Given the description of an element on the screen output the (x, y) to click on. 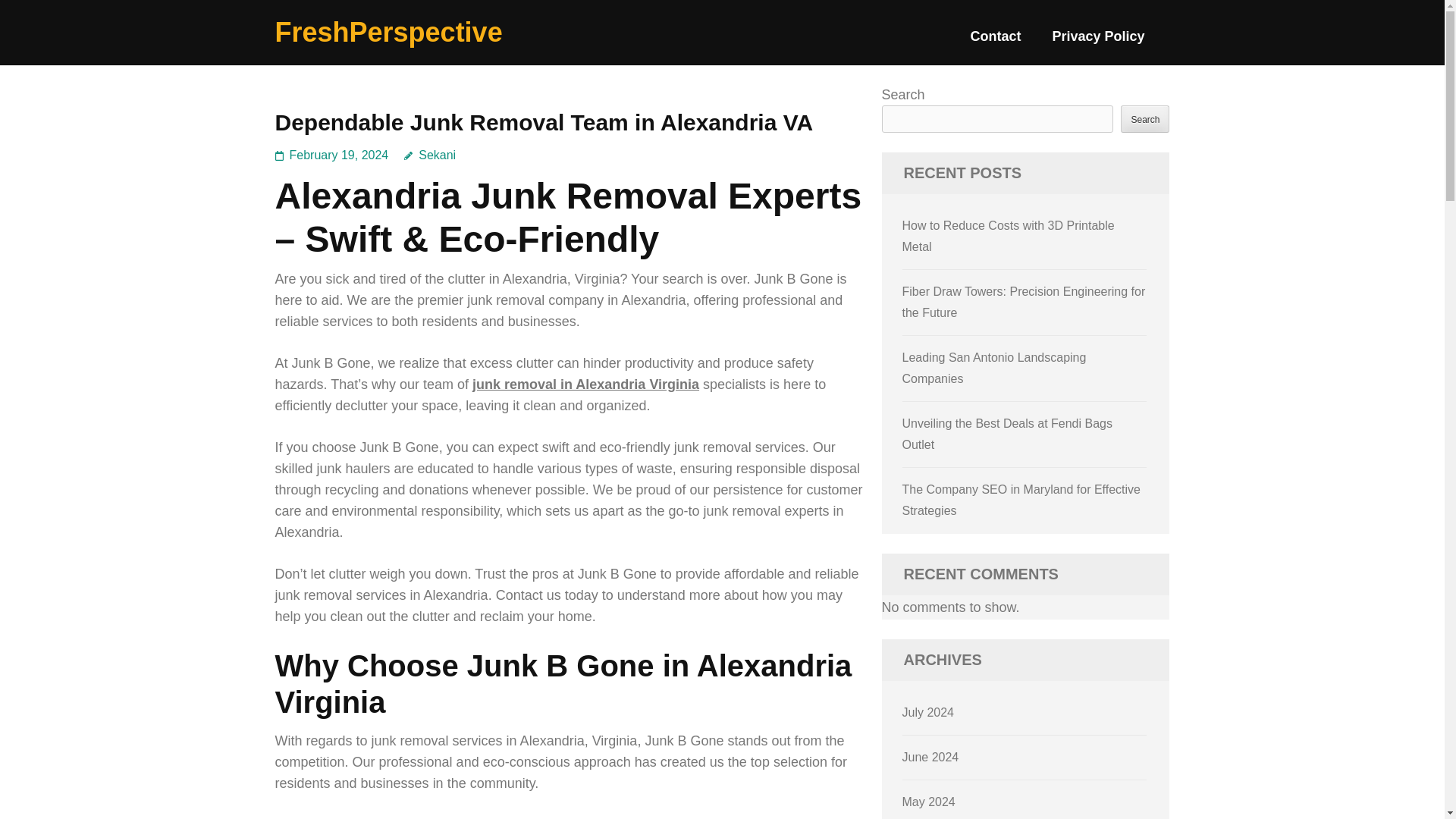
Search (1145, 118)
The Company SEO in Maryland for Effective Strategies (1021, 499)
FreshPerspective (388, 31)
June 2024 (930, 757)
February 19, 2024 (338, 154)
Sekani (429, 154)
Privacy Policy (1097, 42)
May 2024 (928, 801)
Fiber Draw Towers: Precision Engineering for the Future (1023, 302)
junk removal in Alexandria Virginia (584, 384)
Unveiling the Best Deals at Fendi Bags Outlet (1007, 433)
Leading San Antonio Landscaping Companies (994, 367)
How to Reduce Costs with 3D Printable Metal (1008, 236)
Contact (994, 42)
July 2024 (928, 712)
